Given the description of an element on the screen output the (x, y) to click on. 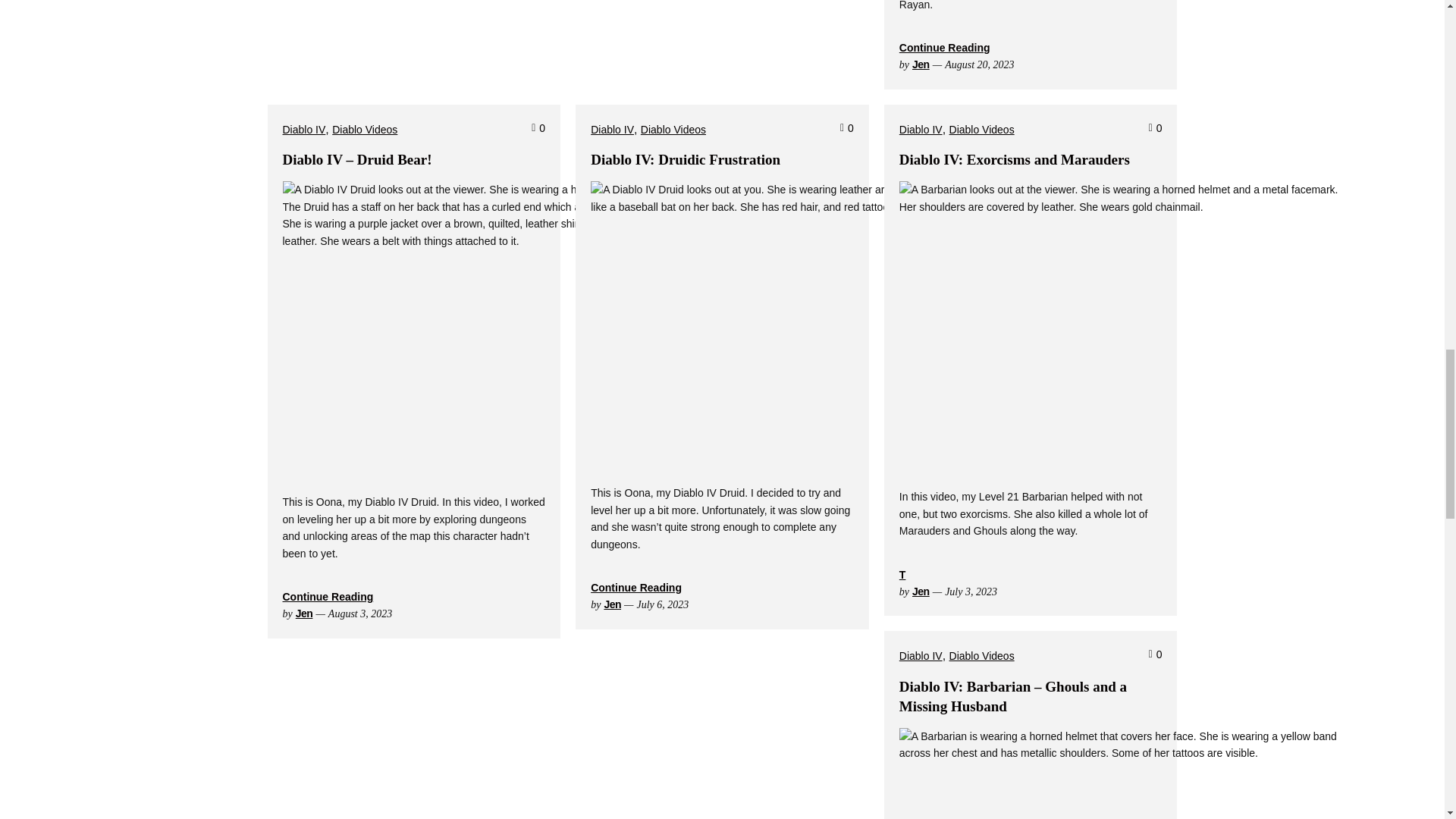
Jen (921, 64)
Diablo Videos (364, 129)
Diablo IV (303, 129)
Jen (304, 613)
